Given the description of an element on the screen output the (x, y) to click on. 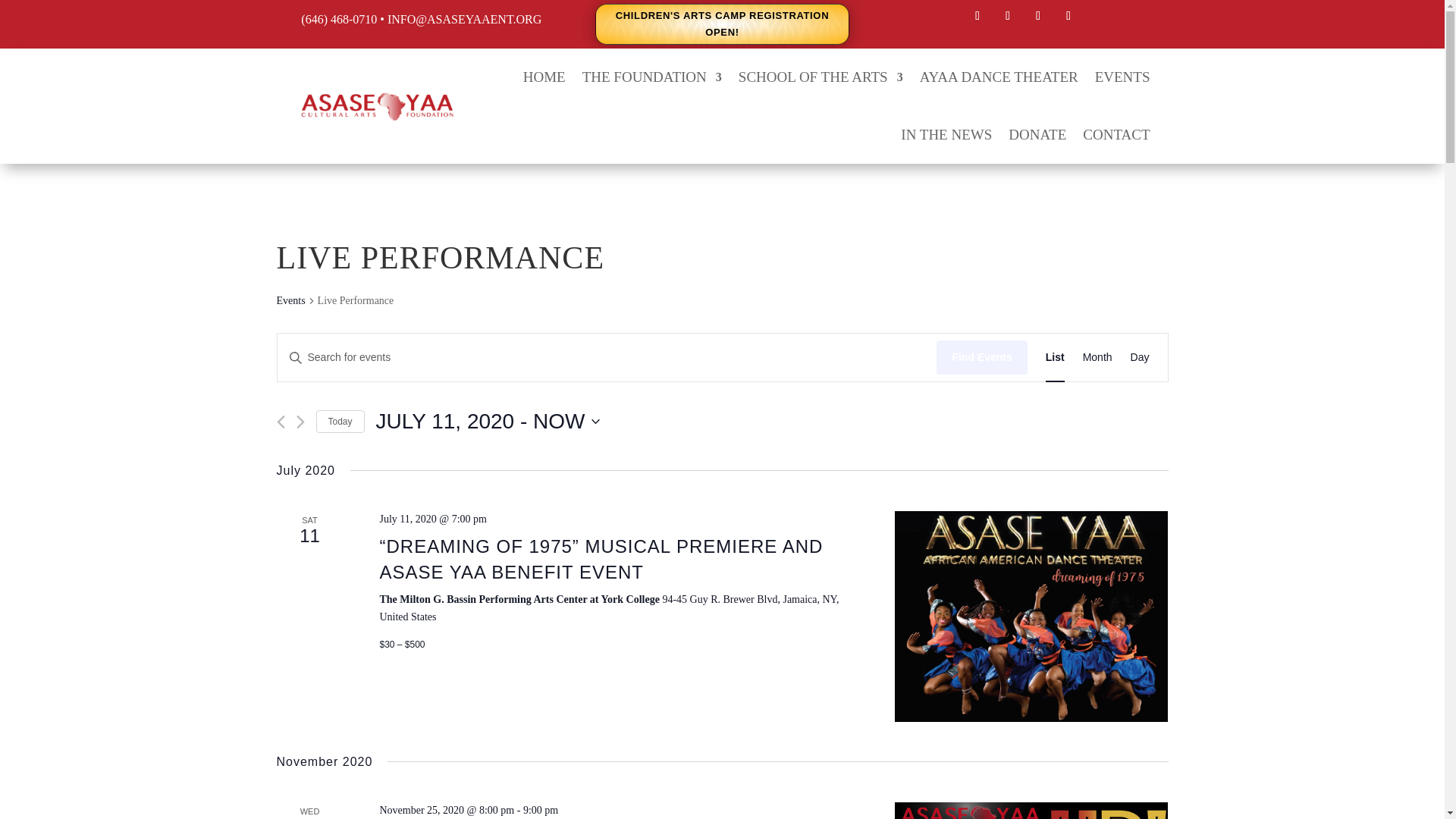
EVENTS (1122, 77)
CHILDREN'S ARTS CAMP REGISTRATION OPEN! (721, 24)
Follow on Instagram (1037, 15)
Follow on X (1007, 15)
Click to toggle datepicker (487, 421)
Follow on Facebook (977, 15)
THE FOUNDATION (652, 77)
DONATE (1037, 134)
IN THE NEWS (946, 134)
Follow on Youtube (1068, 15)
Click to select today's date (339, 421)
SCHOOL OF THE ARTS (820, 77)
CONTACT (1116, 134)
AYAA DANCE THEATER (999, 77)
